Given the description of an element on the screen output the (x, y) to click on. 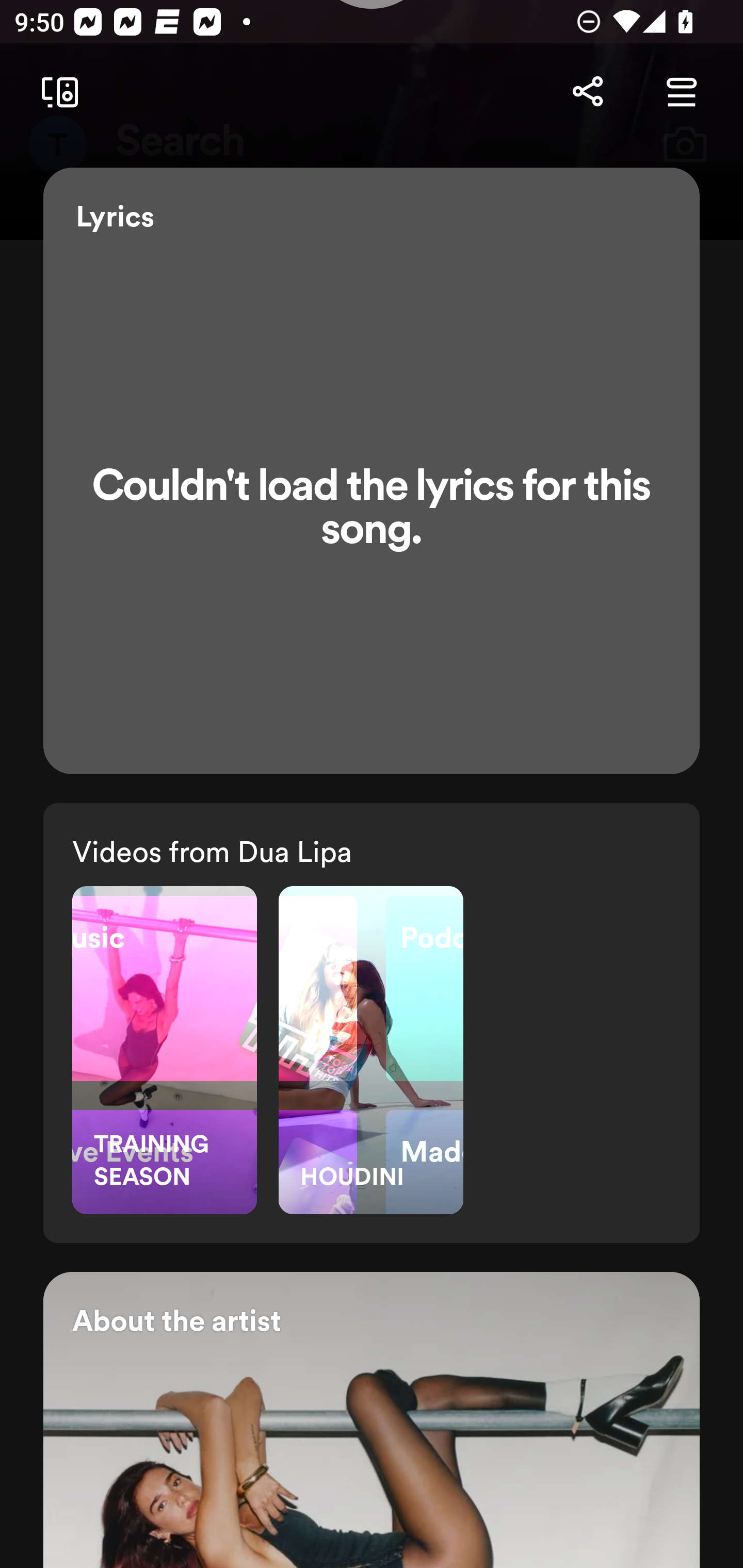
Share (587, 91)
Go to Queue (681, 91)
Connect to a device. Opens the devices menu (55, 91)
TRAINING SEASON (164, 1049)
HOUDINI (370, 1049)
About the artist (371, 1419)
